Given the description of an element on the screen output the (x, y) to click on. 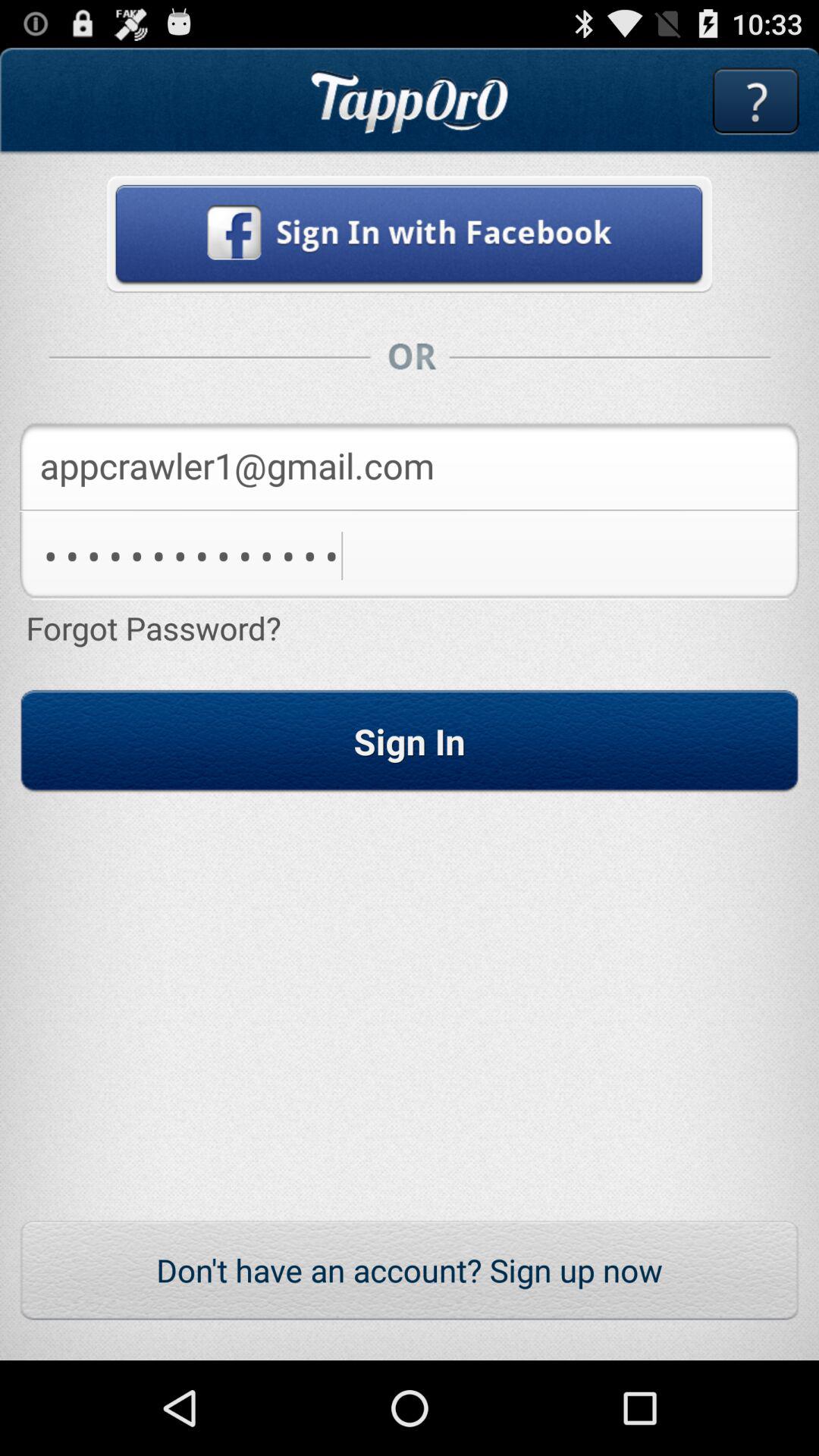
open option to sign in with facebook (409, 234)
